Given the description of an element on the screen output the (x, y) to click on. 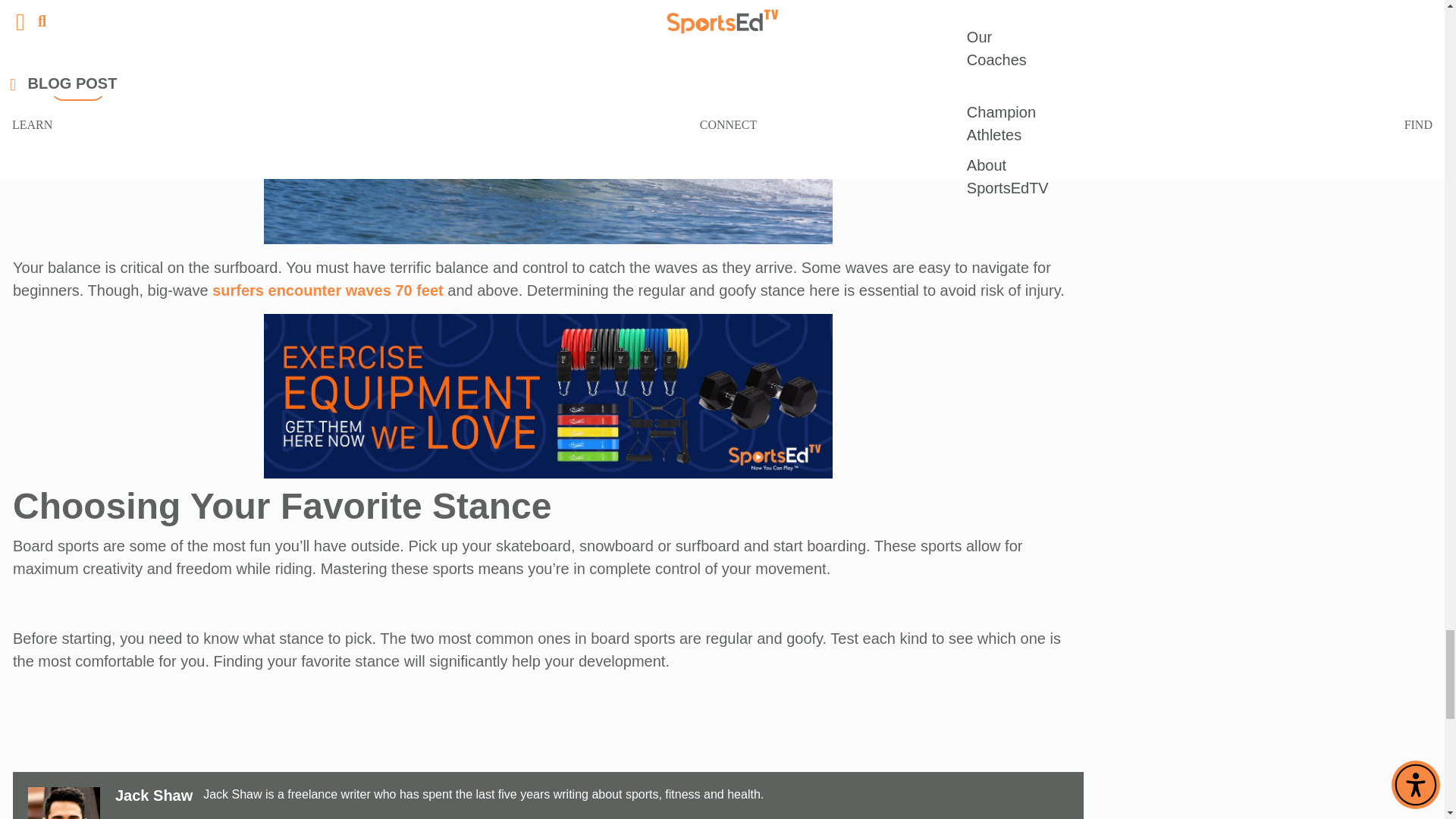
surfers encounter waves 70 feet (328, 289)
